Given the description of an element on the screen output the (x, y) to click on. 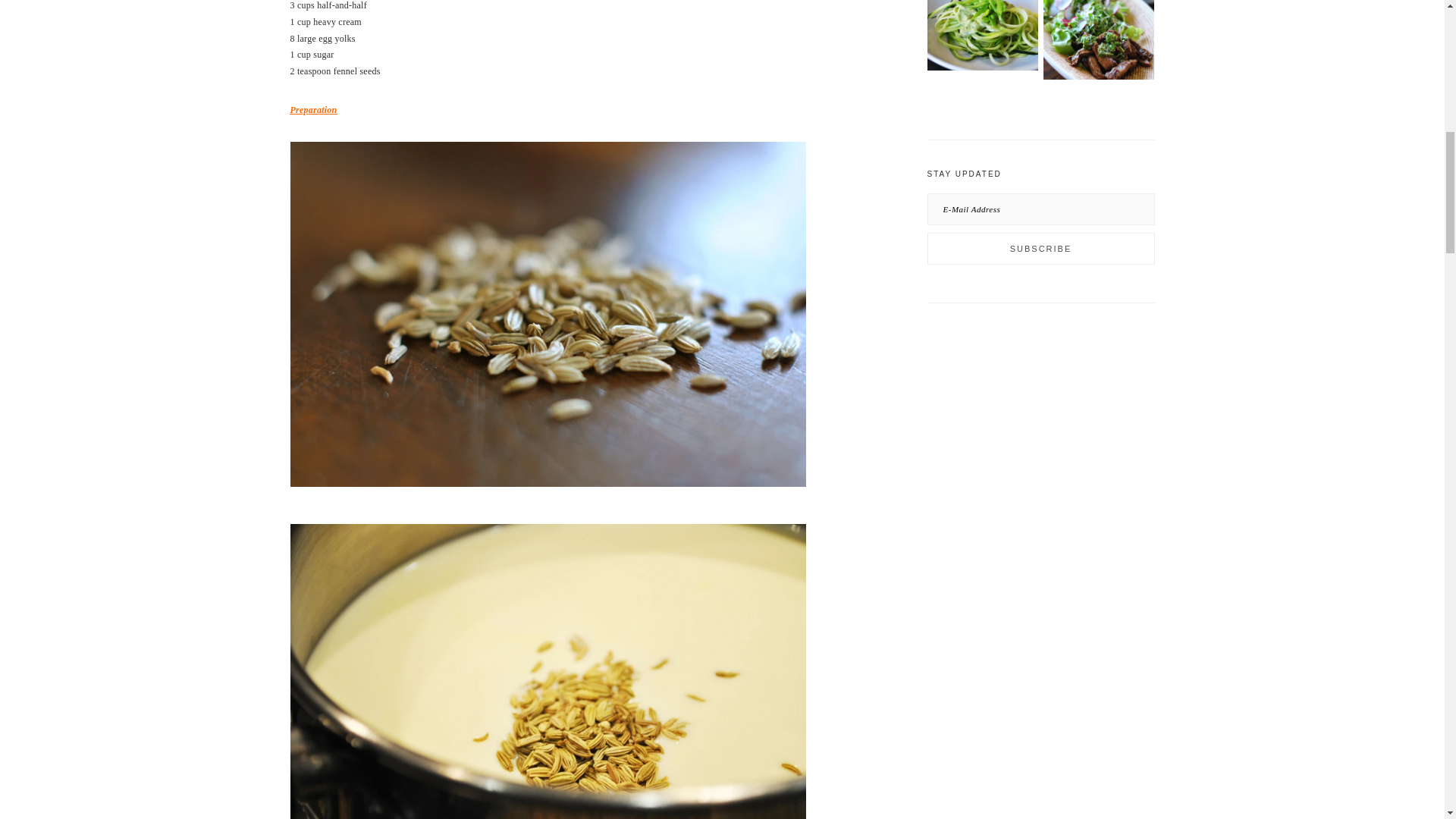
So-wrong-yet-so-right-Green Sauce (981, 38)
No Marinade Steak Salad with Teriyaki Cilantro Dressing (1098, 42)
Subscribe (1040, 248)
Subscribe (1040, 248)
